Given the description of an element on the screen output the (x, y) to click on. 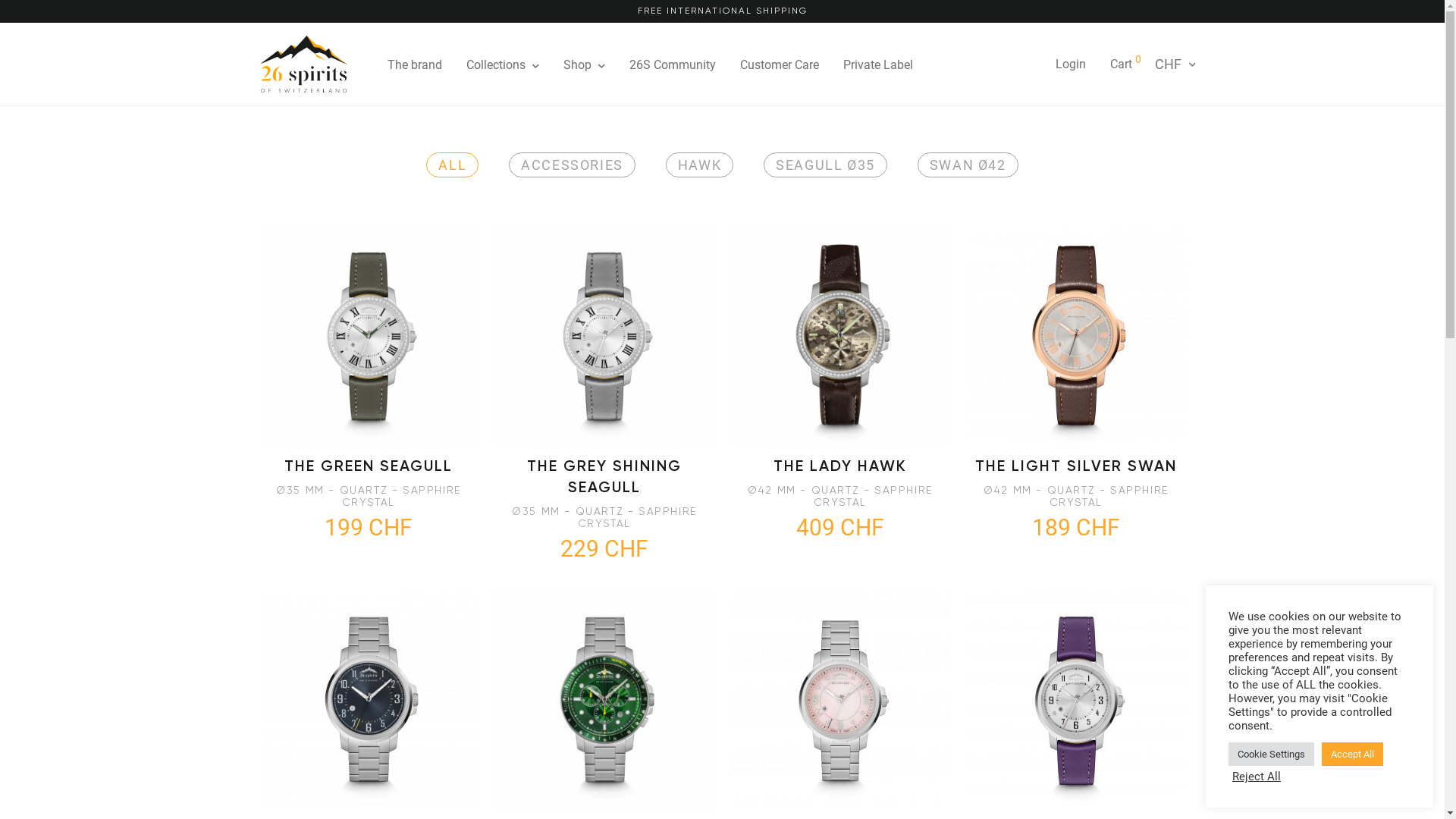
Private Label Element type: text (878, 65)
ALL Element type: text (452, 164)
Accept All Element type: text (1352, 753)
Reject All Element type: text (1256, 776)
Shop Element type: text (584, 65)
The brand Element type: text (414, 65)
Login Element type: text (1070, 63)
ACCESSORIES Element type: text (571, 164)
Cart 0 Element type: text (1125, 63)
THE LADY HAWK Element type: text (839, 465)
Customer Care Element type: text (779, 65)
THE GREY SHINING SEAGULL Element type: text (604, 475)
THE LIGHT SILVER SWAN Element type: text (1075, 465)
THE GREEN SEAGULL Element type: text (368, 465)
Cookie Settings Element type: text (1271, 753)
26S Community Element type: text (672, 65)
Collections Element type: text (502, 65)
HAWK Element type: text (699, 164)
